Given the description of an element on the screen output the (x, y) to click on. 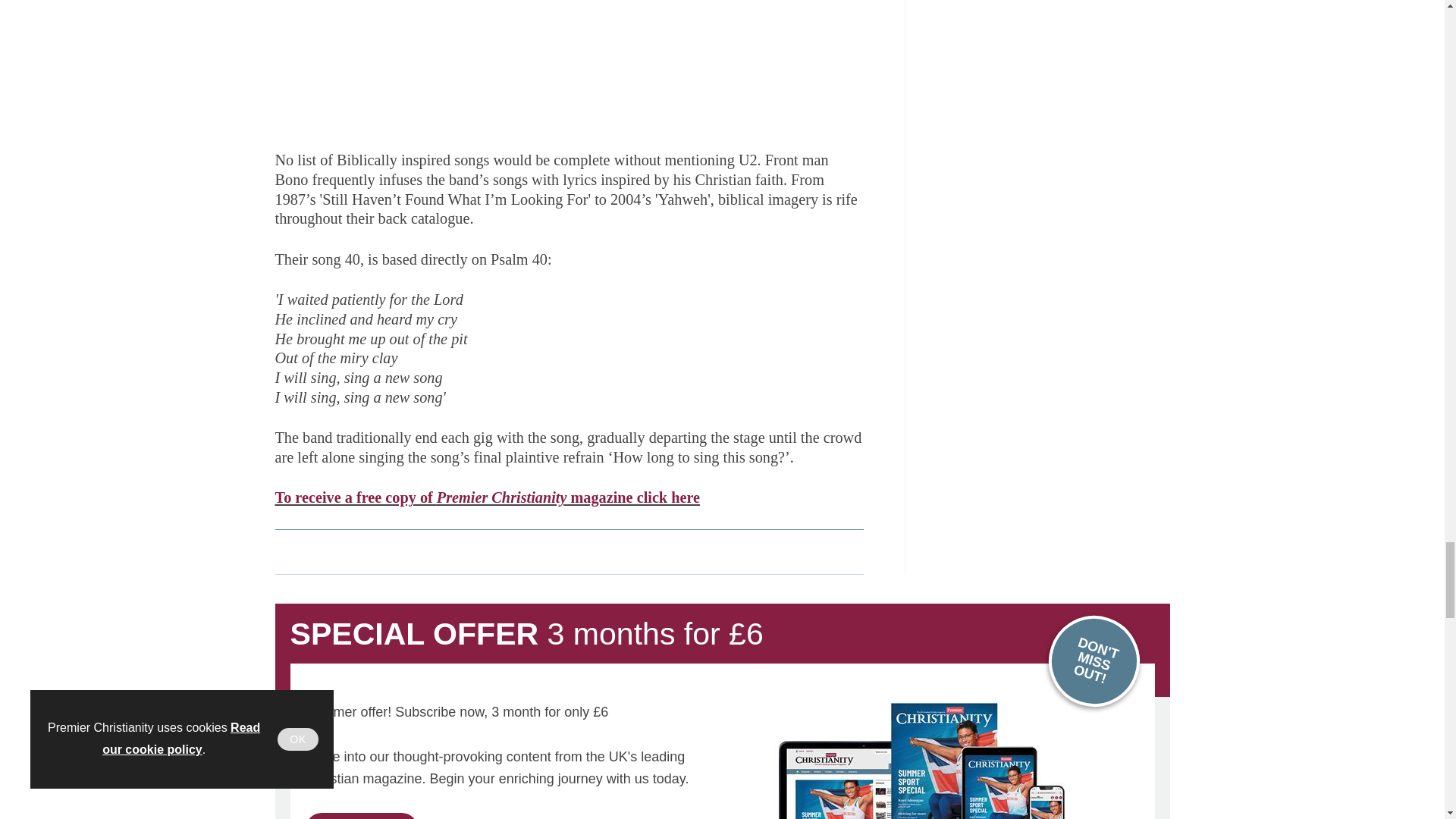
Share this on Linked in (352, 551)
Share this on Facebook (288, 551)
Email this article (386, 551)
Share this on Twitter (320, 551)
